Given the description of an element on the screen output the (x, y) to click on. 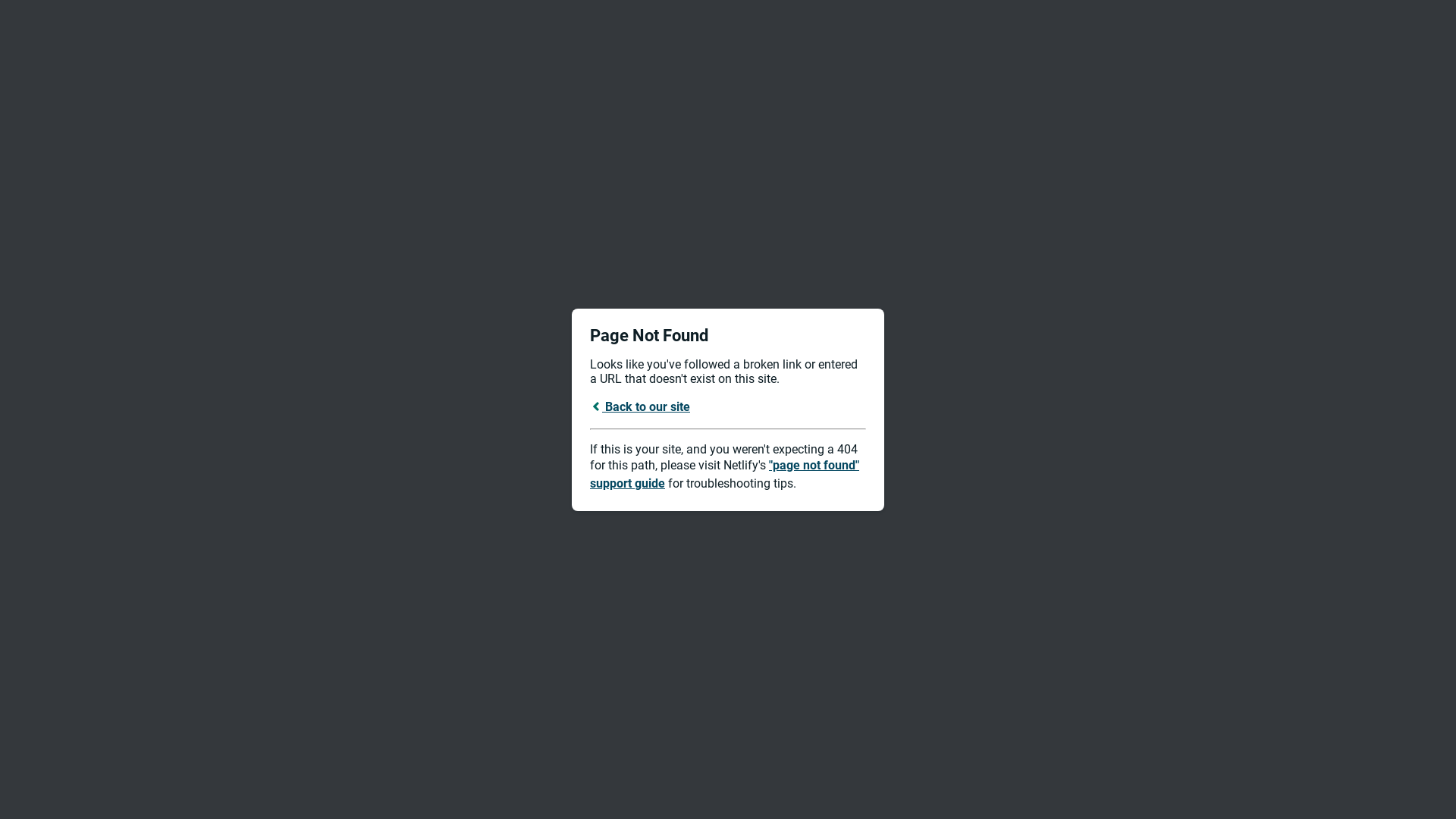
Back to our site Element type: text (639, 405)
"page not found" support guide Element type: text (724, 474)
